Given the description of an element on the screen output the (x, y) to click on. 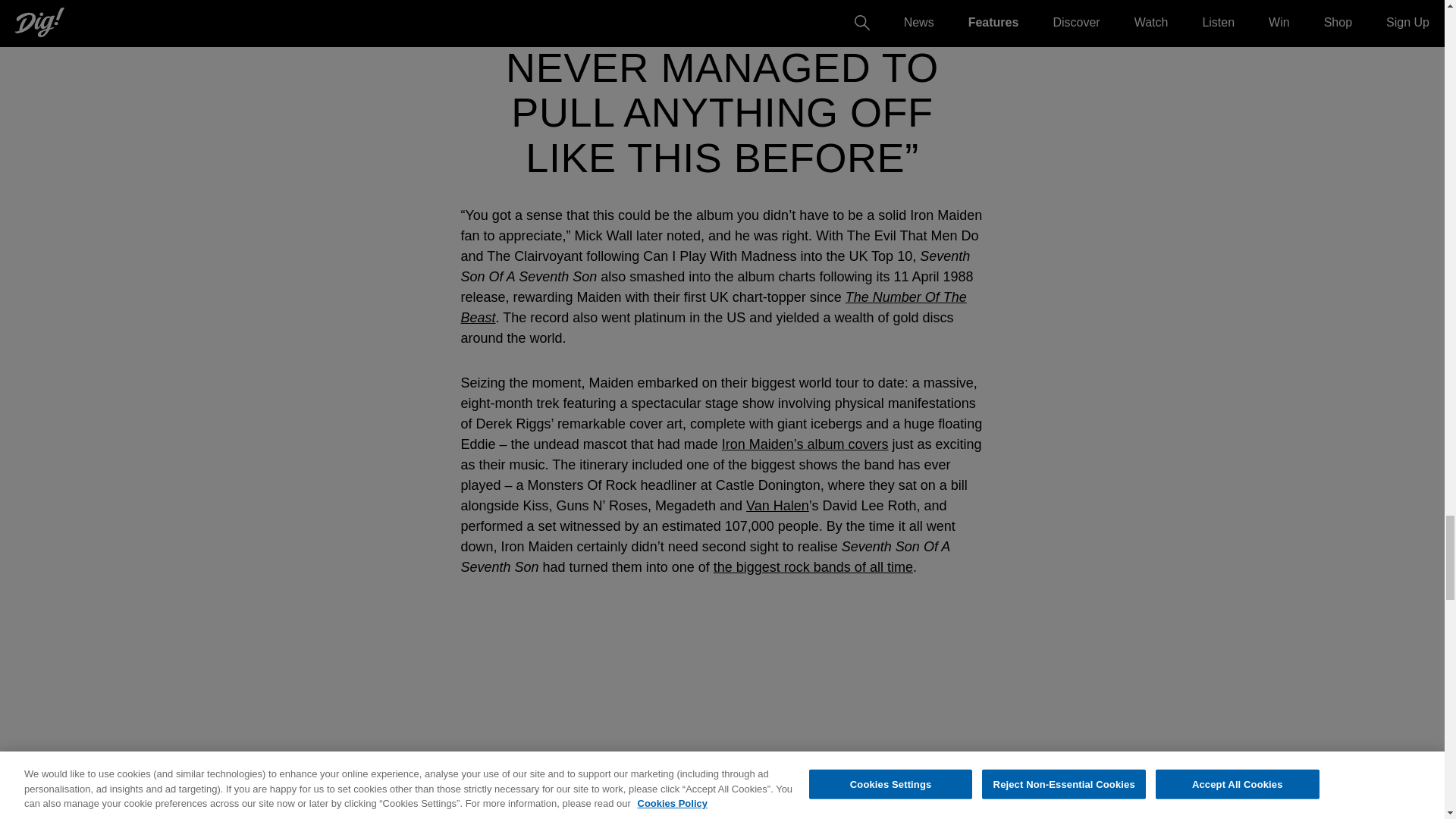
Van Halen (777, 505)
the biggest rock bands of all time (812, 566)
The Number Of The Beast (713, 307)
